Given the description of an element on the screen output the (x, y) to click on. 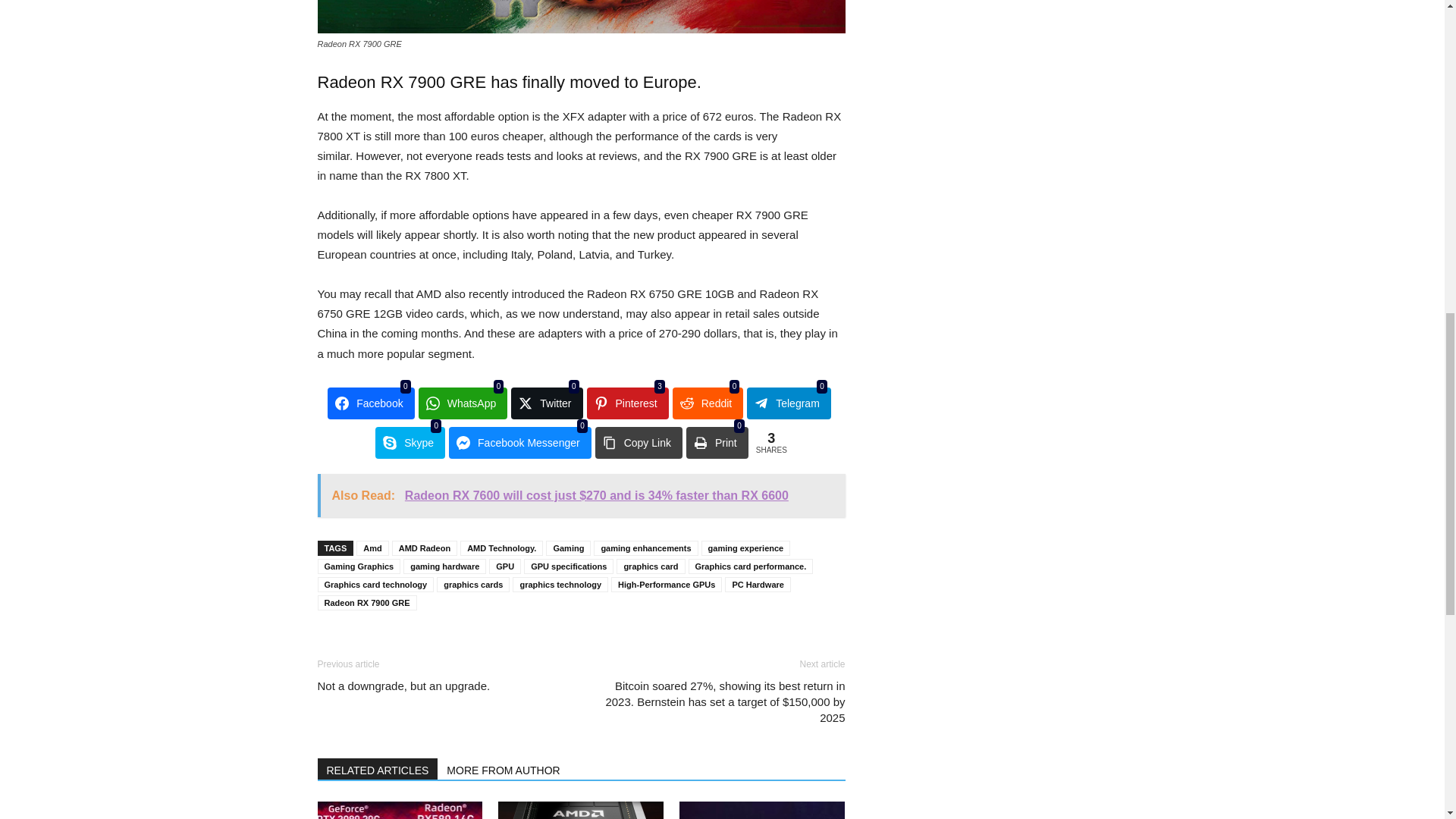
Share on Copy Link (638, 442)
Telegram (788, 403)
Twitter (546, 403)
Pinterest (627, 403)
Share on WhatsApp (463, 403)
Share on Pinterest (627, 403)
Skype (410, 442)
Facebook (370, 403)
Share on Reddit (707, 403)
Share on Twitter (546, 403)
Radeon RX 7900 GRE (580, 16)
WhatsApp (463, 403)
Share on Skype (410, 442)
Share on Facebook Messenger (519, 442)
Share on Facebook (370, 403)
